Given the description of an element on the screen output the (x, y) to click on. 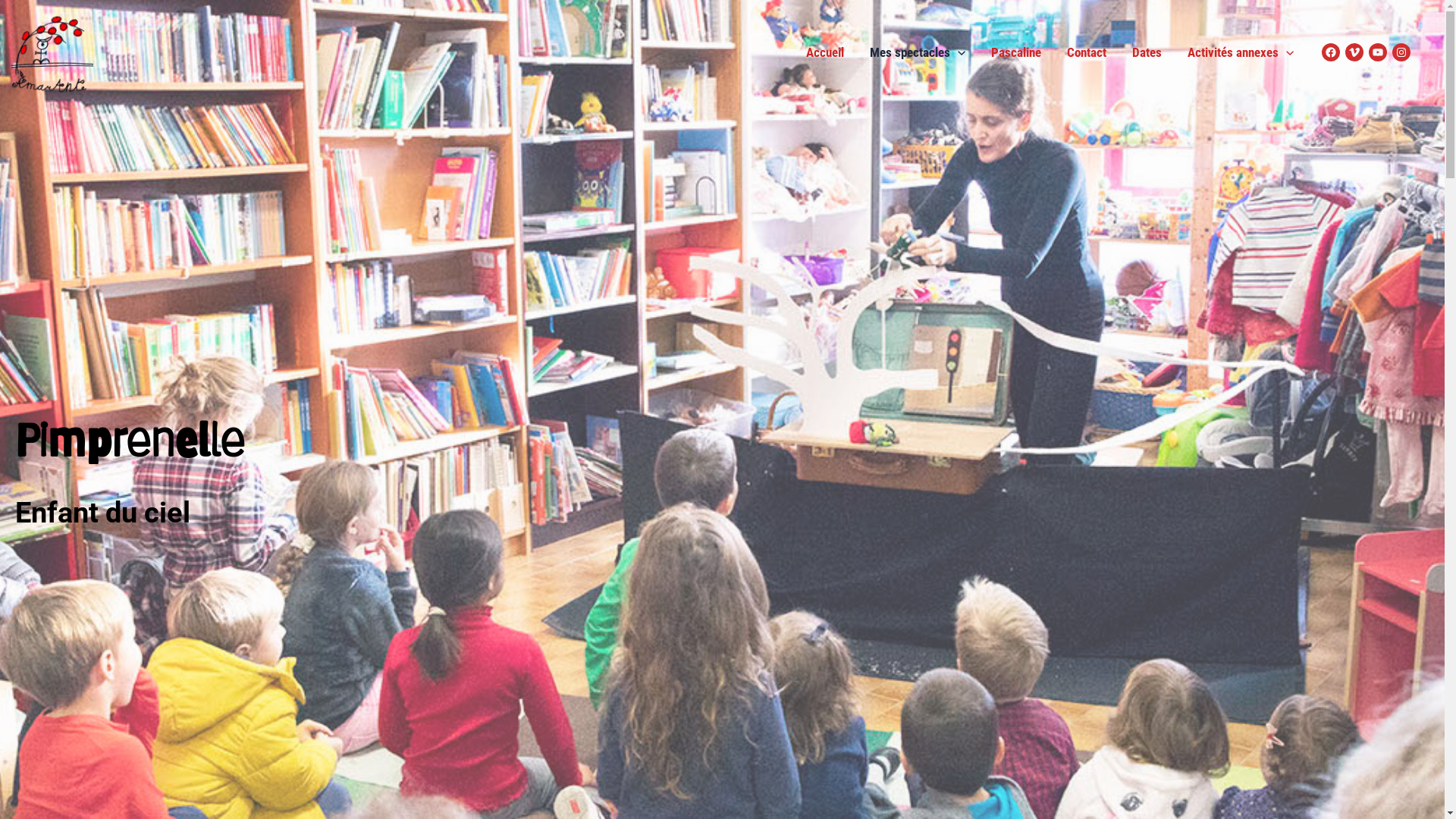
YouTube Element type: text (1377, 52)
Mes spectacles Element type: text (917, 51)
Dates Element type: text (1146, 51)
Instagram Element type: text (1401, 52)
Contact Element type: text (1086, 51)
Facebook Element type: text (1330, 52)
Pascaline Element type: text (1016, 51)
Accueil Element type: text (824, 51)
Vimeo Element type: text (1354, 52)
